Given the description of an element on the screen output the (x, y) to click on. 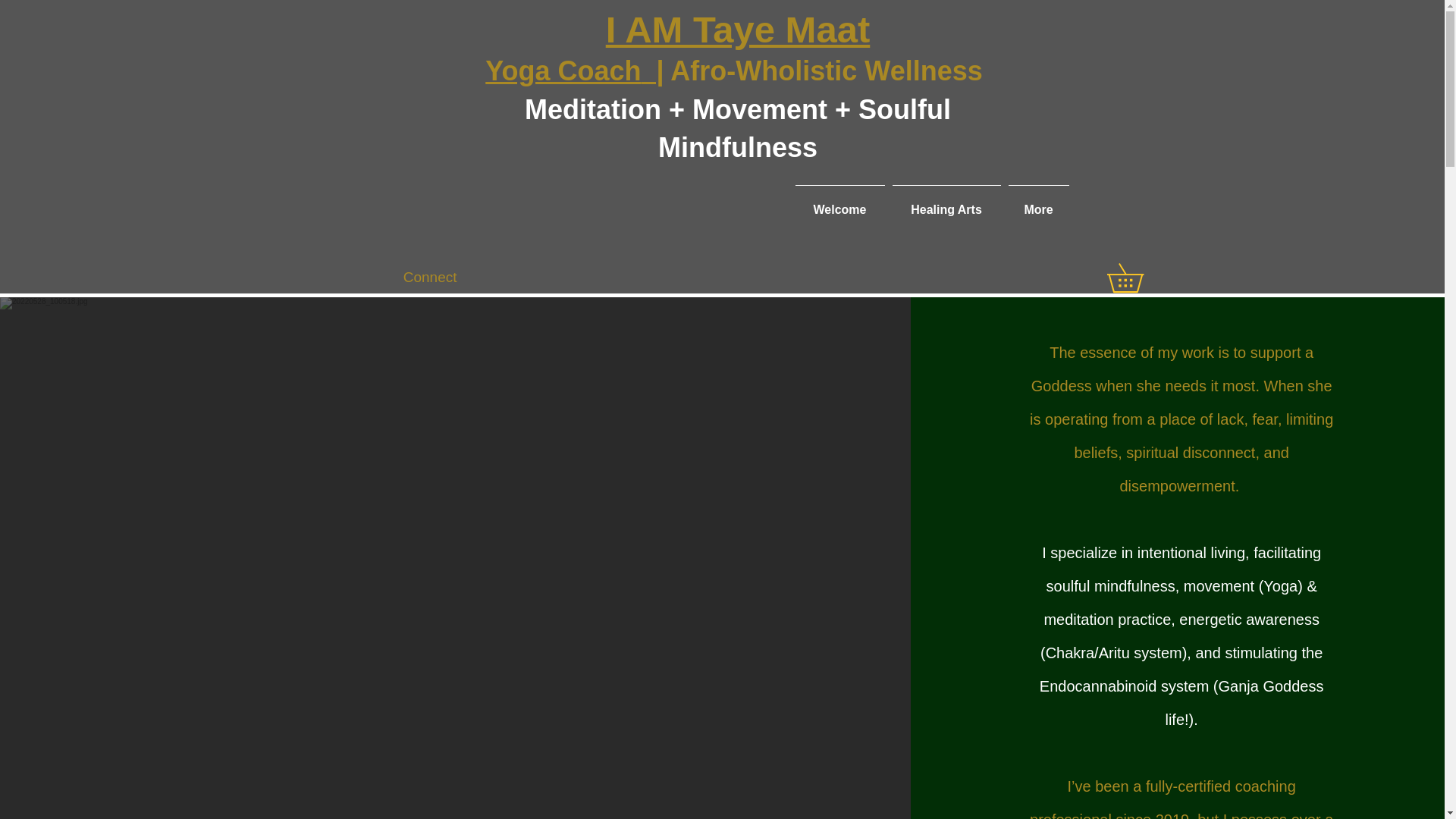
I AM Taye Maat (737, 29)
Connect (430, 277)
Welcome (840, 202)
Healing Arts (946, 202)
